Given the description of an element on the screen output the (x, y) to click on. 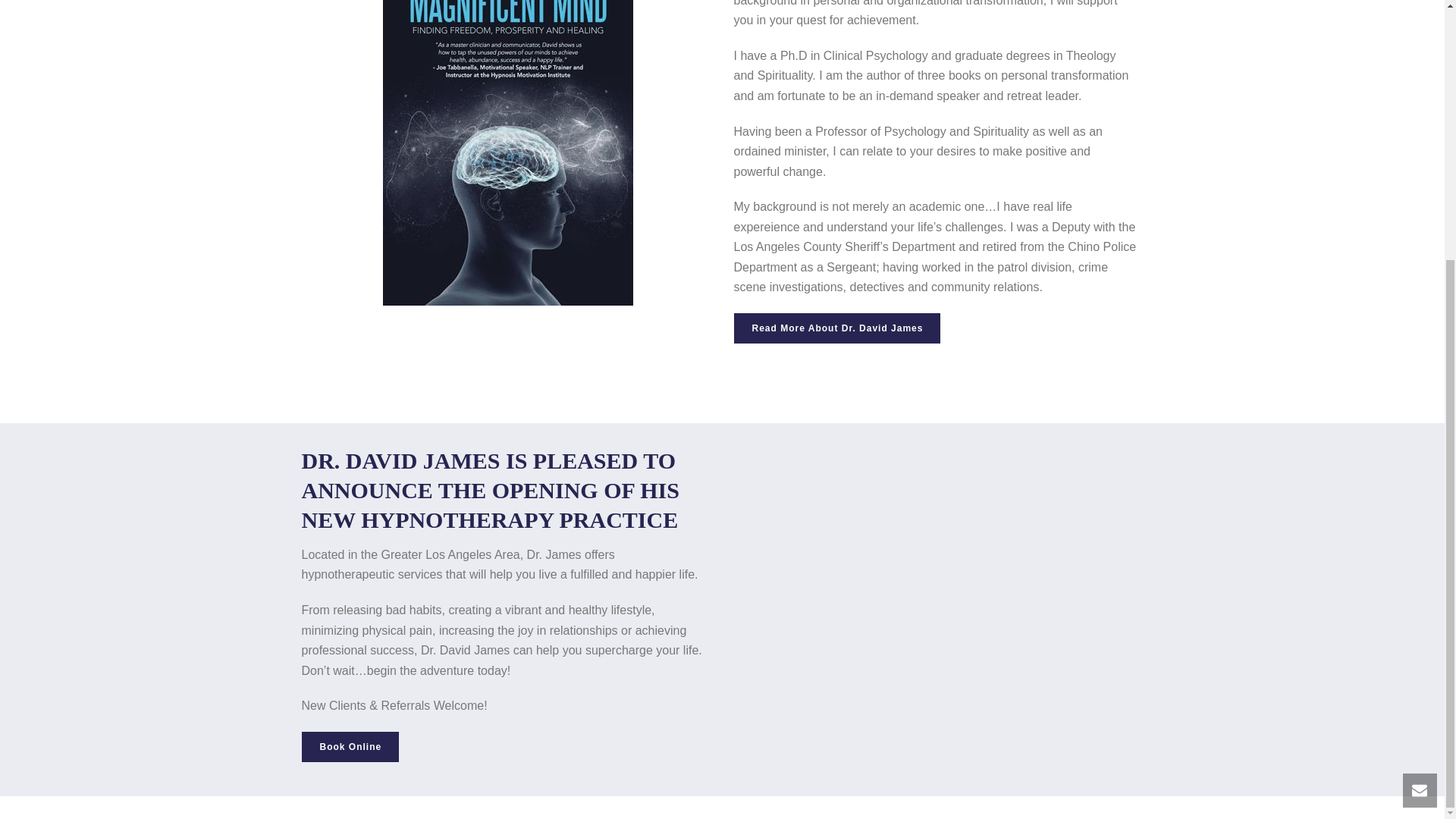
Read More About Dr. David James (836, 327)
Follow Me On facebook (398, 294)
Follow Me On twitter (437, 294)
Subscribe (721, 334)
Book Online (349, 747)
Subscribe (721, 334)
Follow Me On youtube (478, 294)
Read More About Dr. David James (836, 327)
Book Online (349, 747)
Chiara Mazzucco (561, 425)
